Given the description of an element on the screen output the (x, y) to click on. 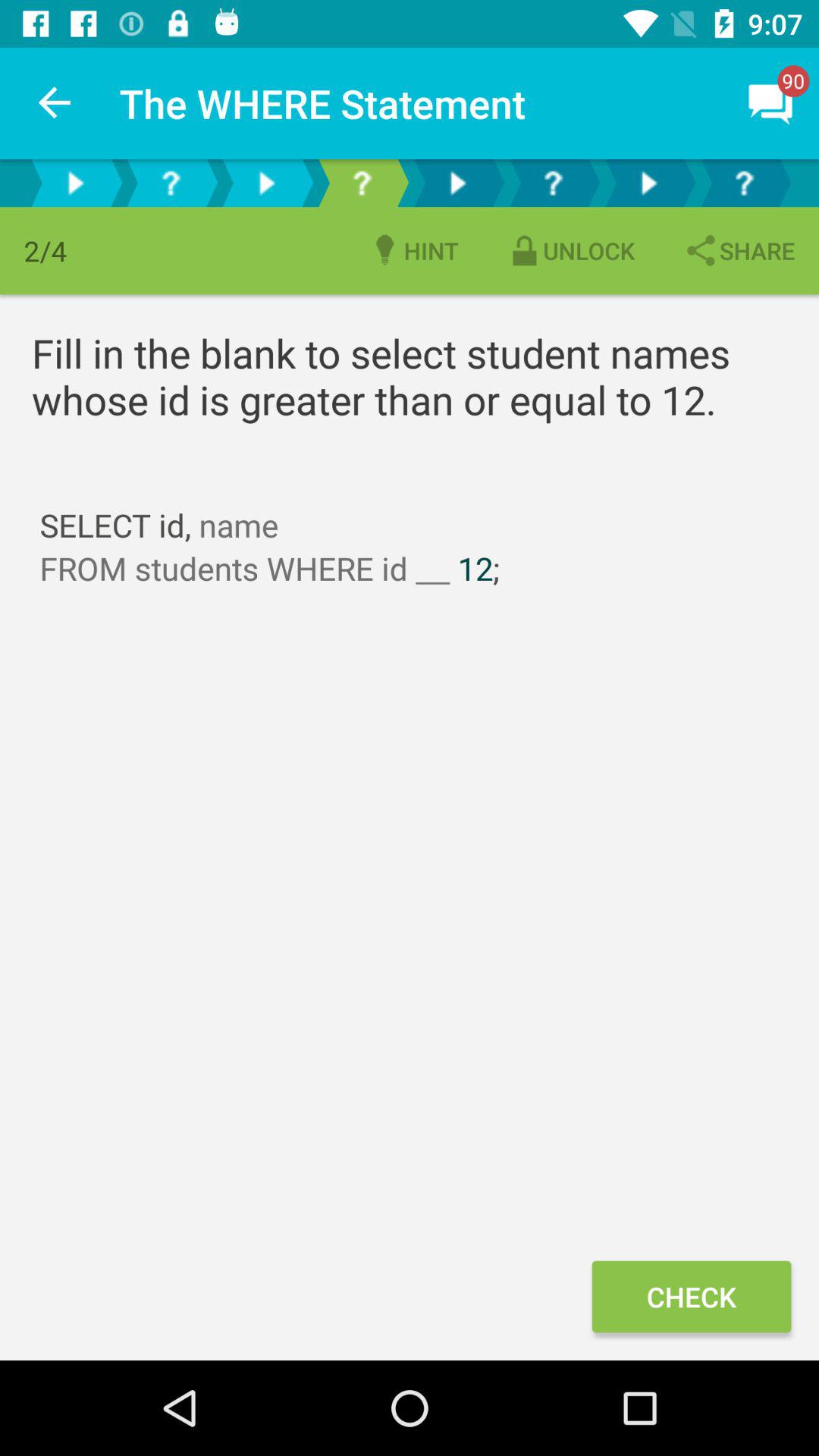
go to last question (743, 183)
